Given the description of an element on the screen output the (x, y) to click on. 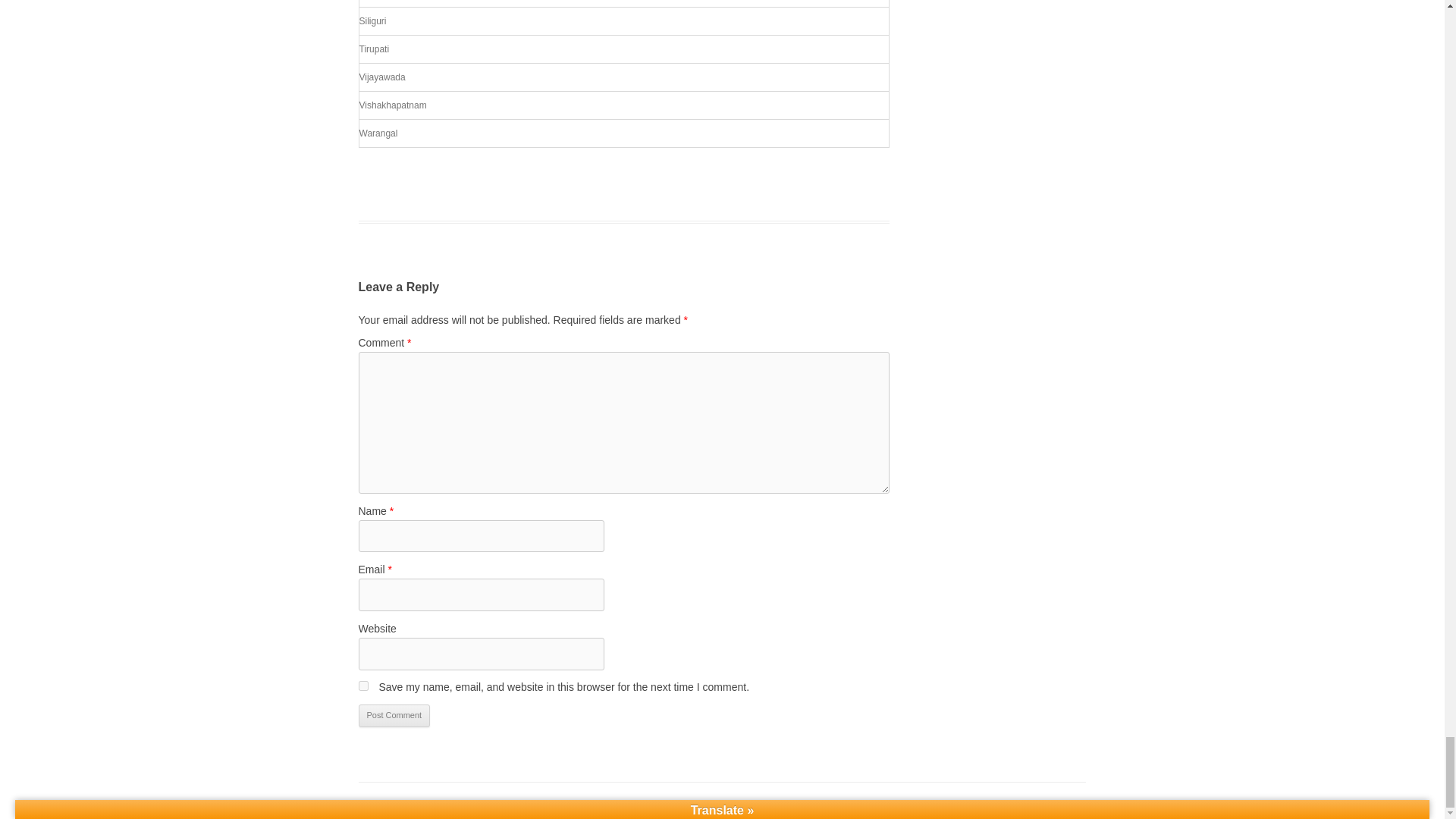
yes (363, 685)
Post Comment (393, 715)
Post Comment (393, 715)
